Given the description of an element on the screen output the (x, y) to click on. 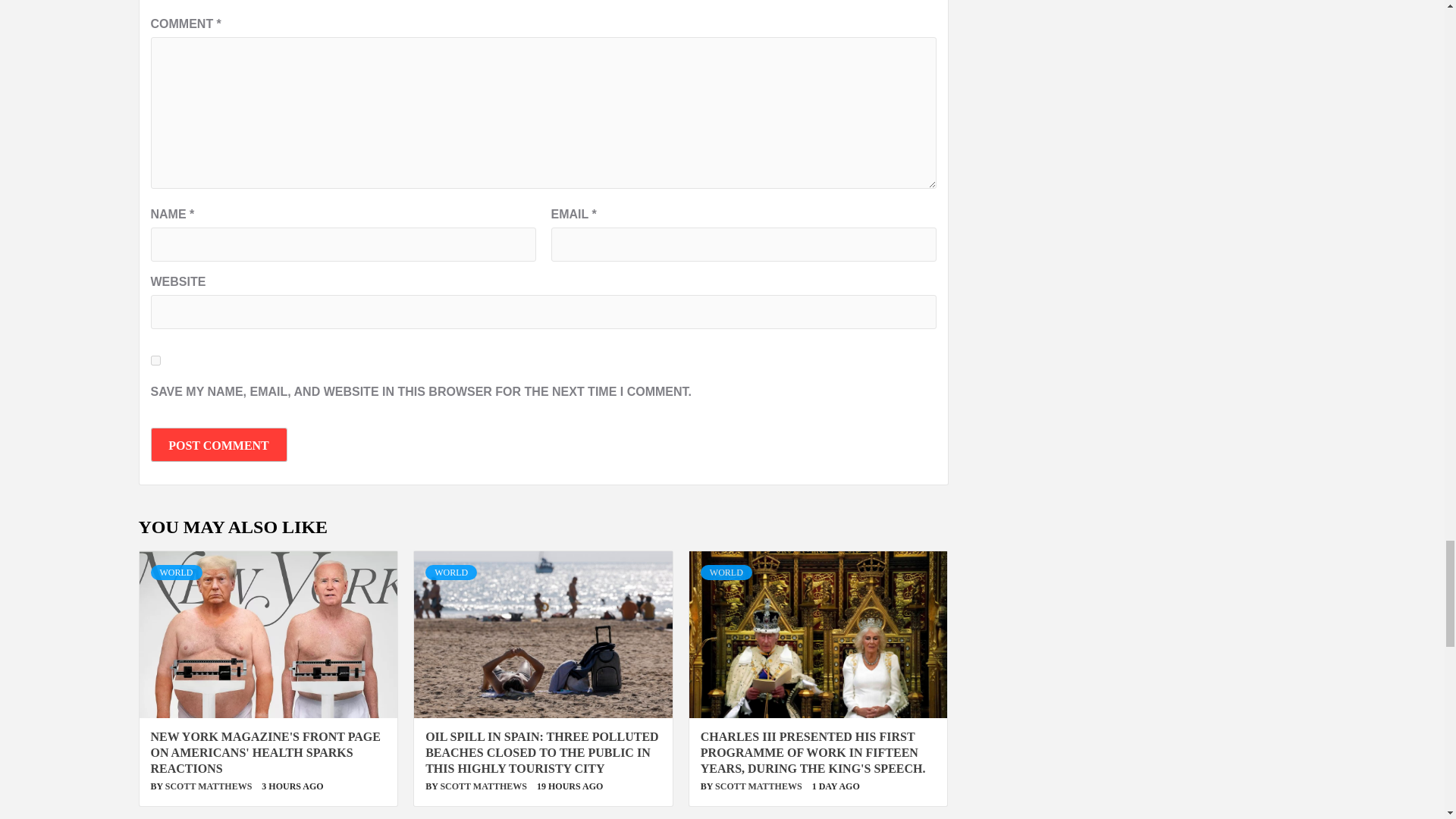
SCOTT MATTHEWS (209, 786)
Post Comment (217, 444)
SCOTT MATTHEWS (484, 786)
yes (154, 360)
WORLD (175, 572)
Post Comment (217, 444)
WORLD (451, 572)
